Given the description of an element on the screen output the (x, y) to click on. 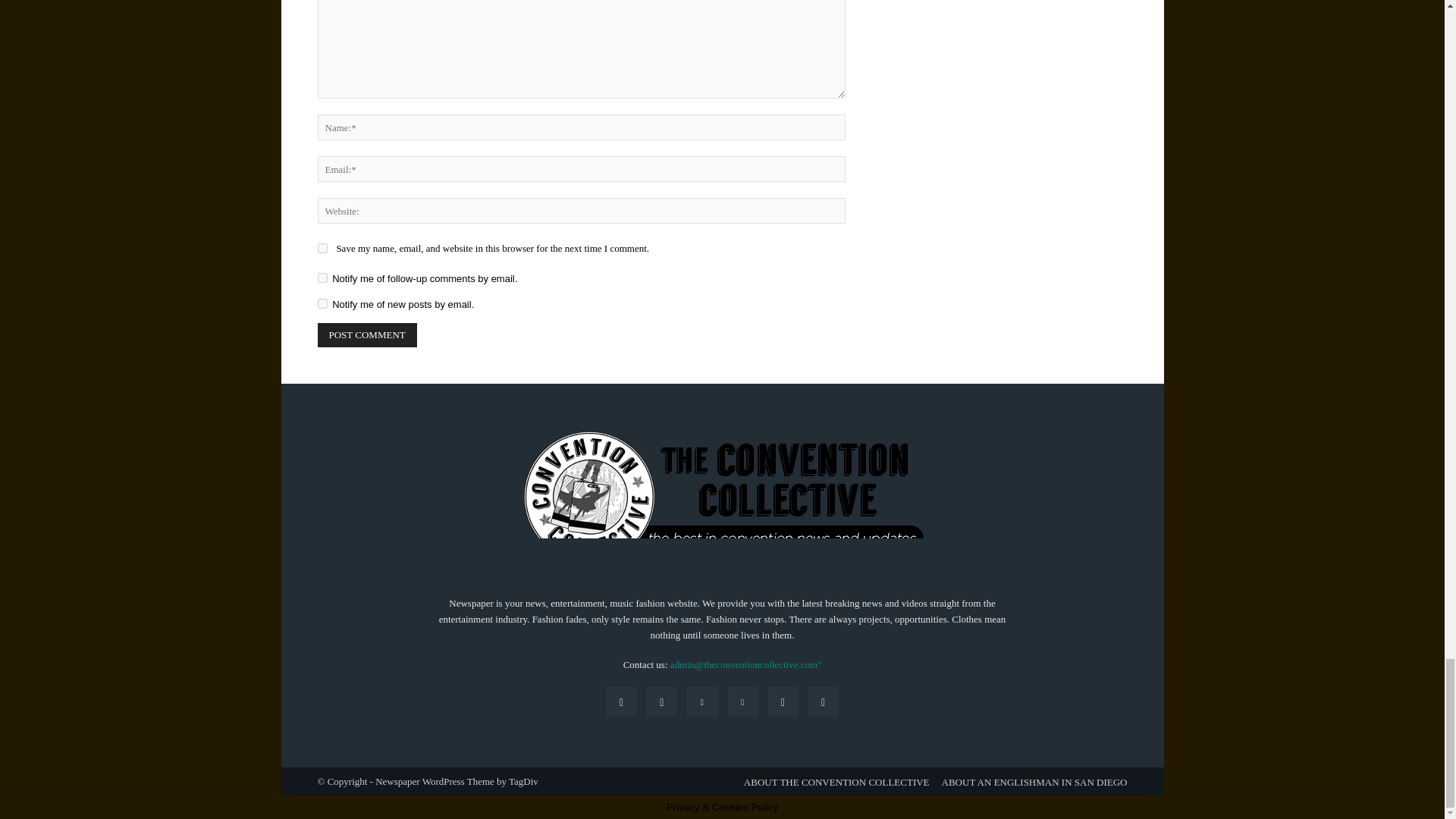
yes (321, 248)
subscribe (321, 303)
Post Comment (366, 334)
subscribe (321, 277)
